Given the description of an element on the screen output the (x, y) to click on. 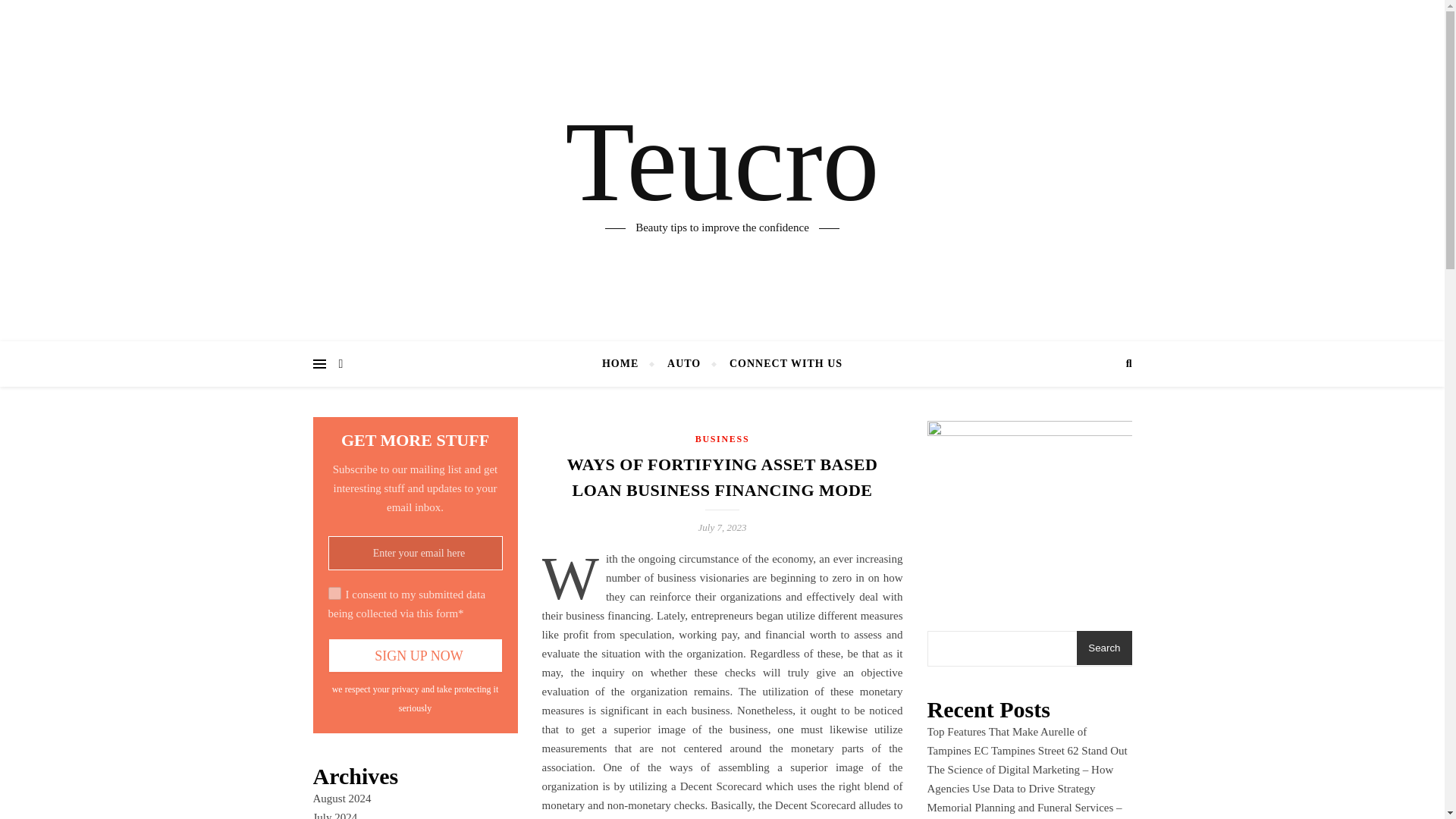
August 2024 (342, 798)
Sign Up Now (414, 655)
on (333, 593)
AUTO (683, 363)
HOME (626, 363)
July 2024 (334, 815)
CONNECT WITH US (779, 363)
Sign Up Now (414, 655)
